Given the description of an element on the screen output the (x, y) to click on. 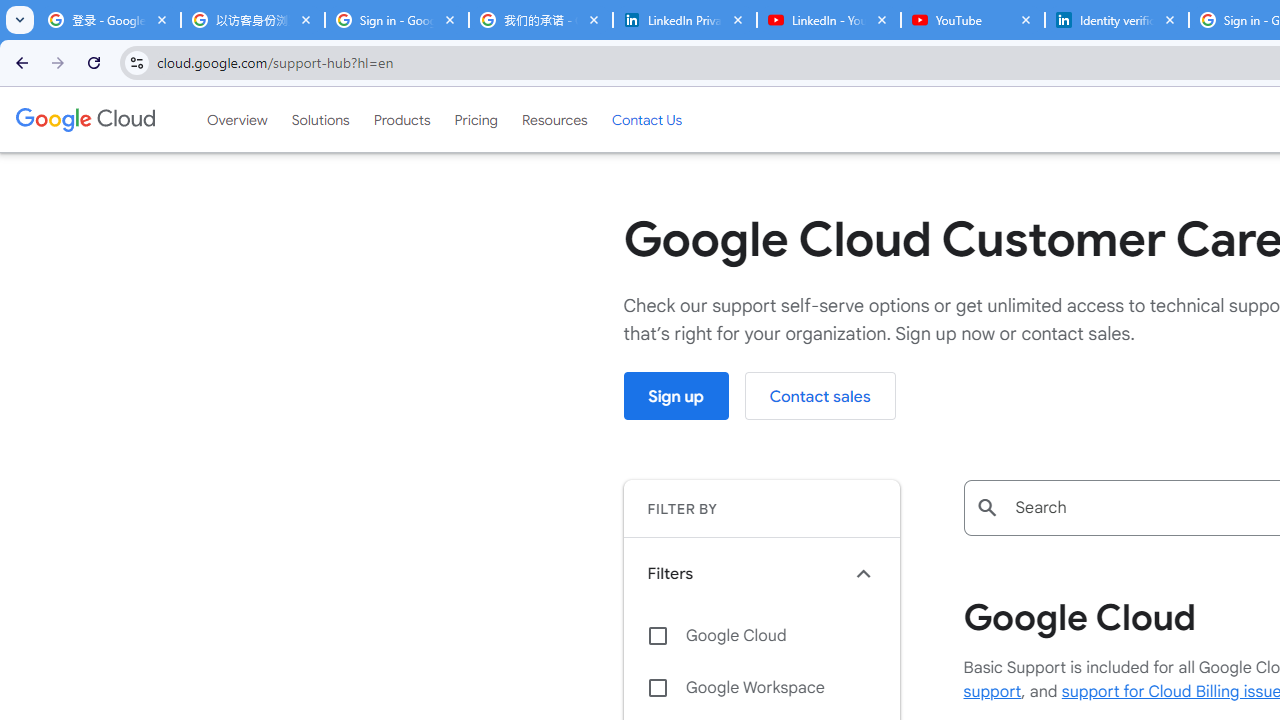
LinkedIn Privacy Policy (684, 20)
Resources (553, 119)
Sign up (676, 395)
Filters keyboard_arrow_up (761, 573)
Contact sales (819, 395)
